Given the description of an element on the screen output the (x, y) to click on. 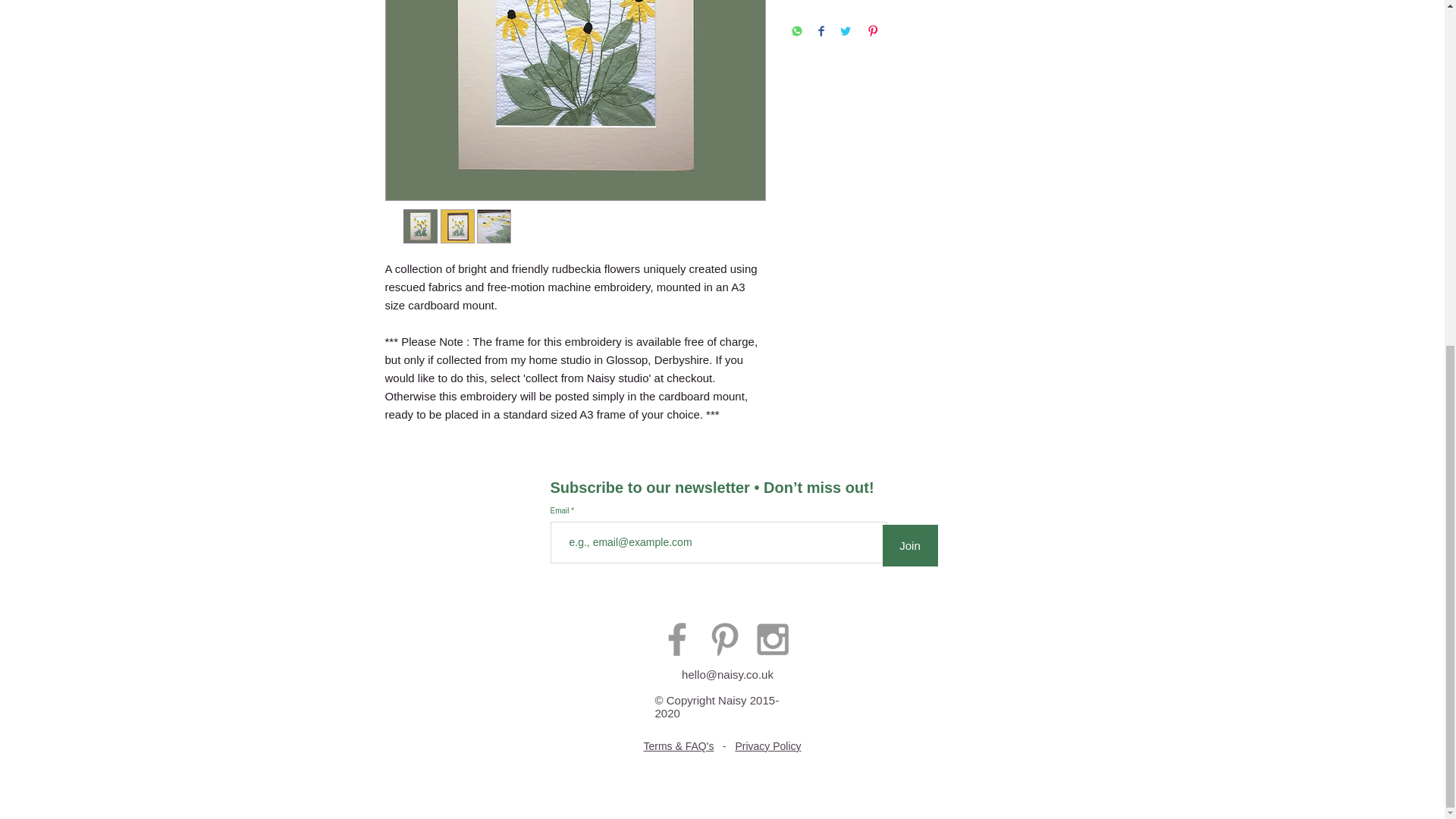
Join (909, 545)
